Given the description of an element on the screen output the (x, y) to click on. 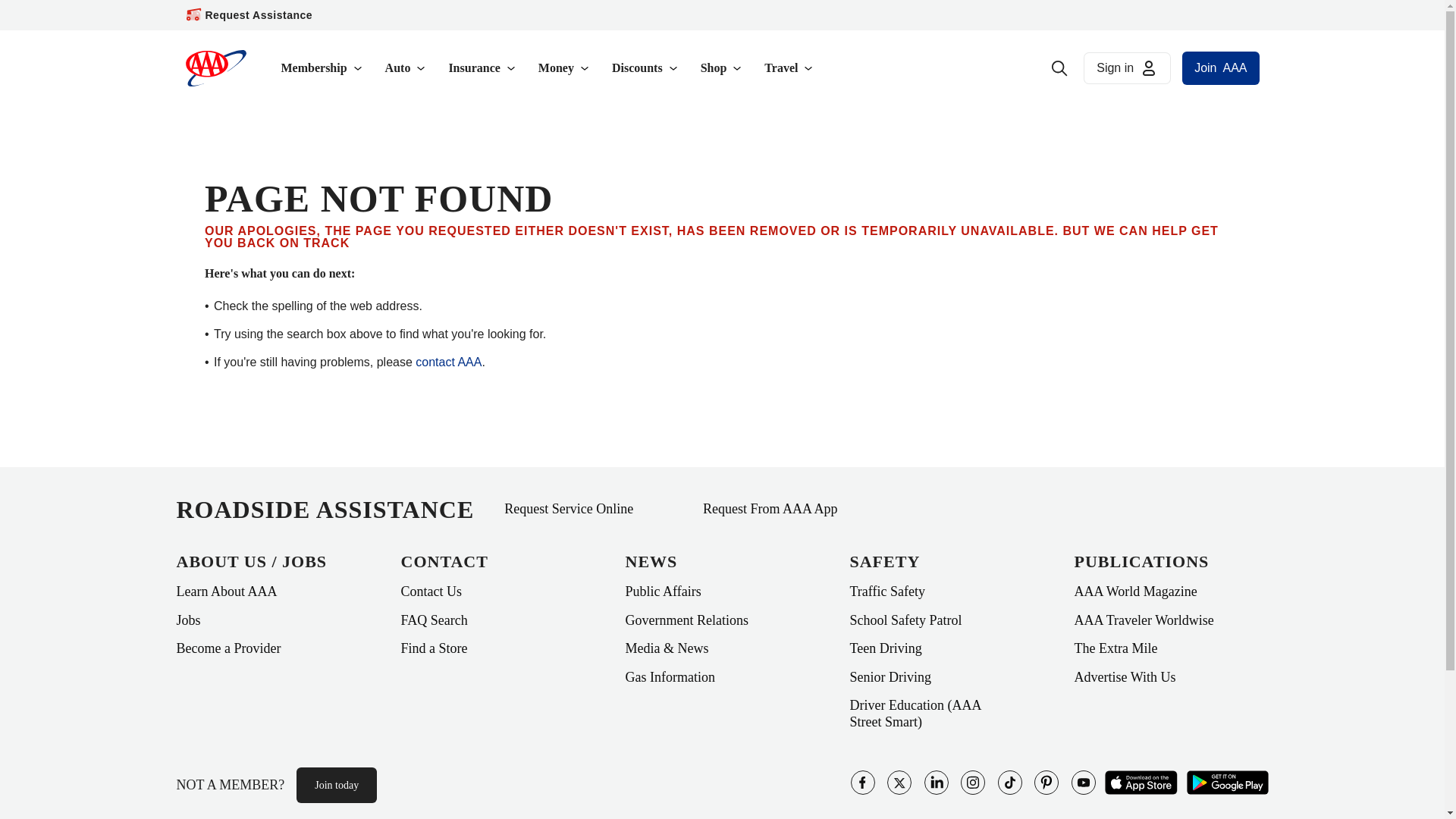
Search (1059, 67)
Request Assistance (259, 14)
Membership (322, 68)
Auto (406, 68)
